Given the description of an element on the screen output the (x, y) to click on. 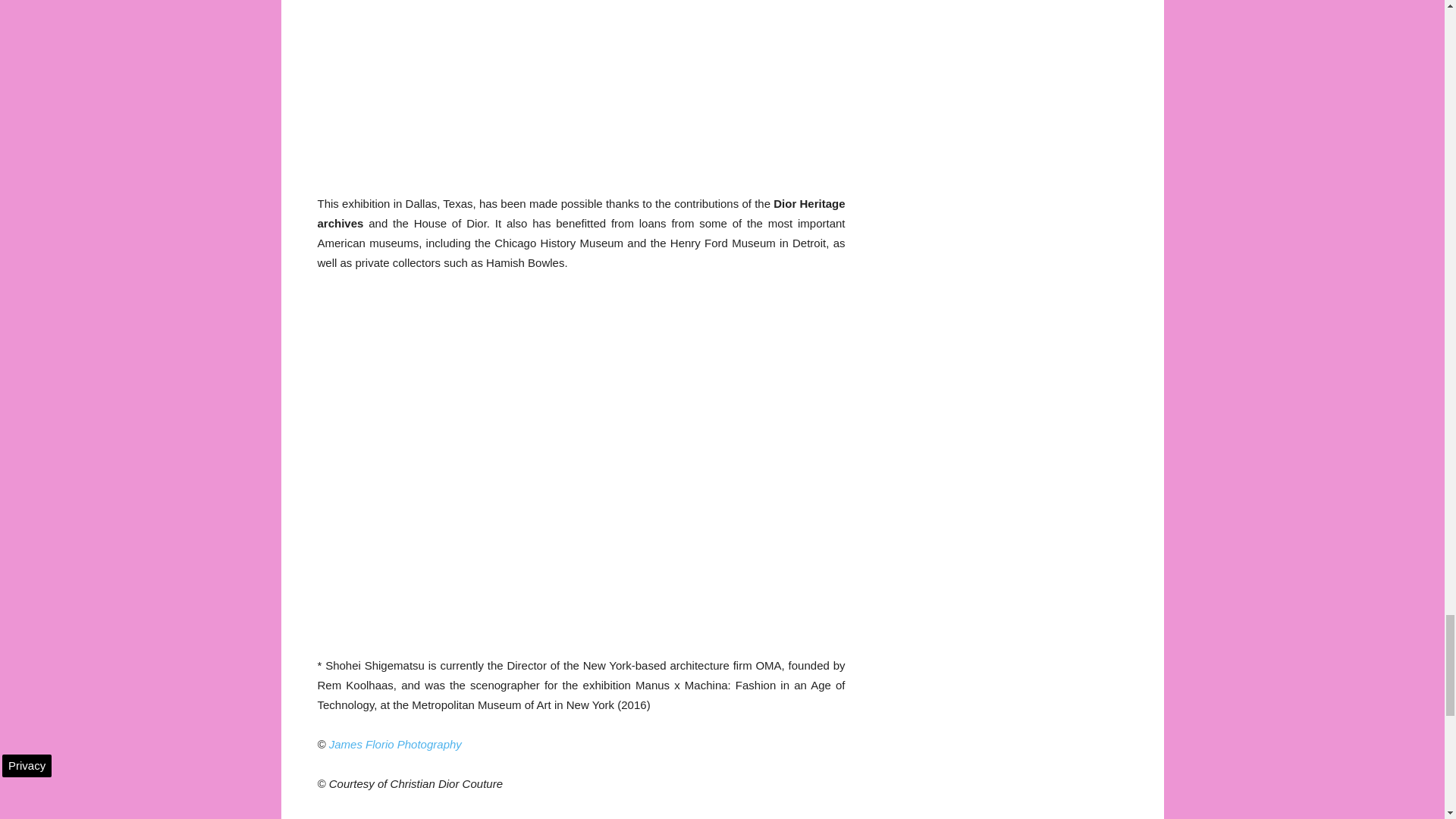
James Florio Photography (395, 744)
